Given the description of an element on the screen output the (x, y) to click on. 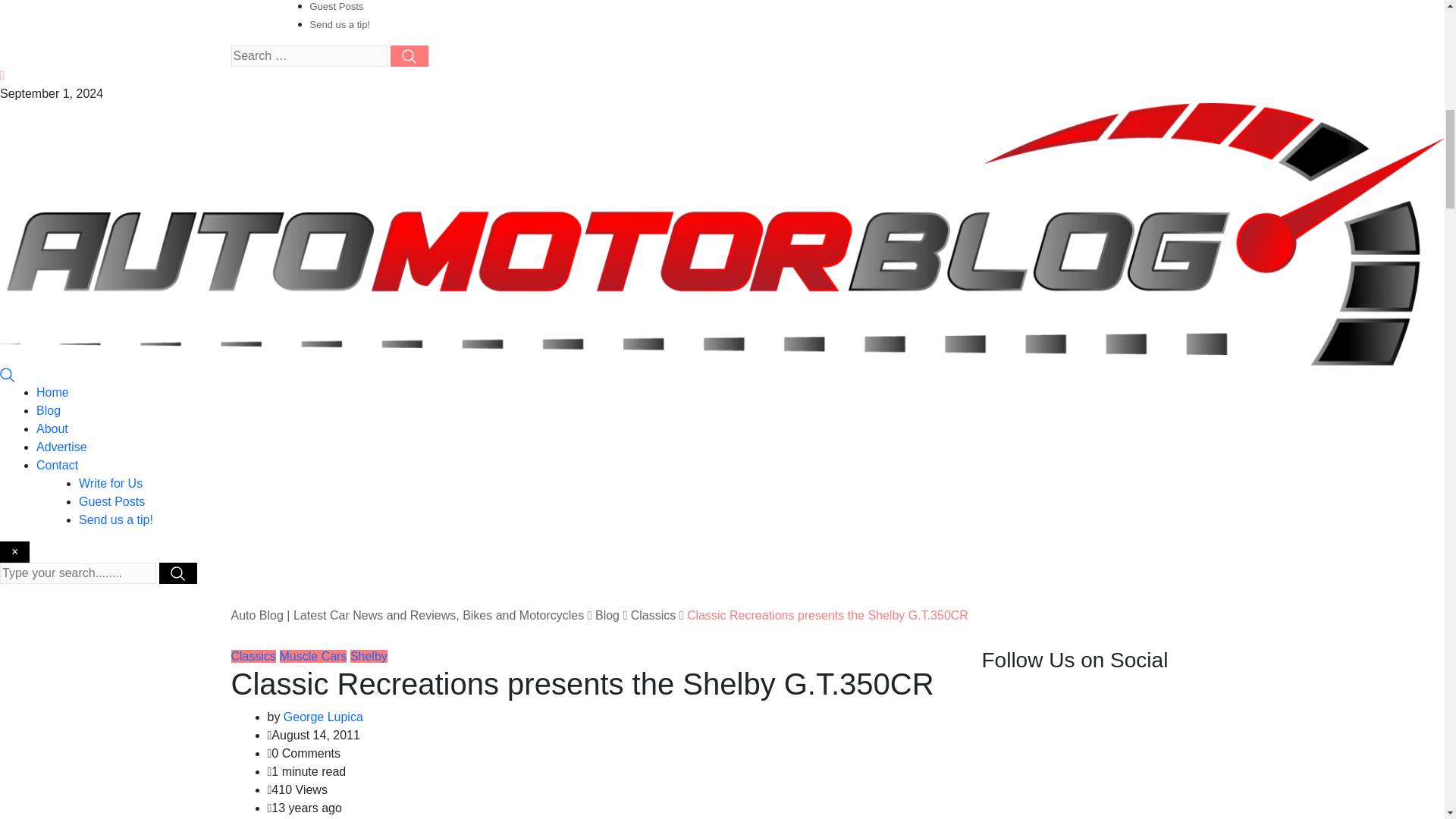
Go to Blog. (607, 615)
Posts by George Lupica (322, 716)
Guest Posts (335, 6)
Home (52, 391)
Guest Posts (111, 501)
Contact (57, 464)
Send us a tip! (338, 24)
About (52, 428)
Blog (48, 410)
Advertise (61, 446)
